Given the description of an element on the screen output the (x, y) to click on. 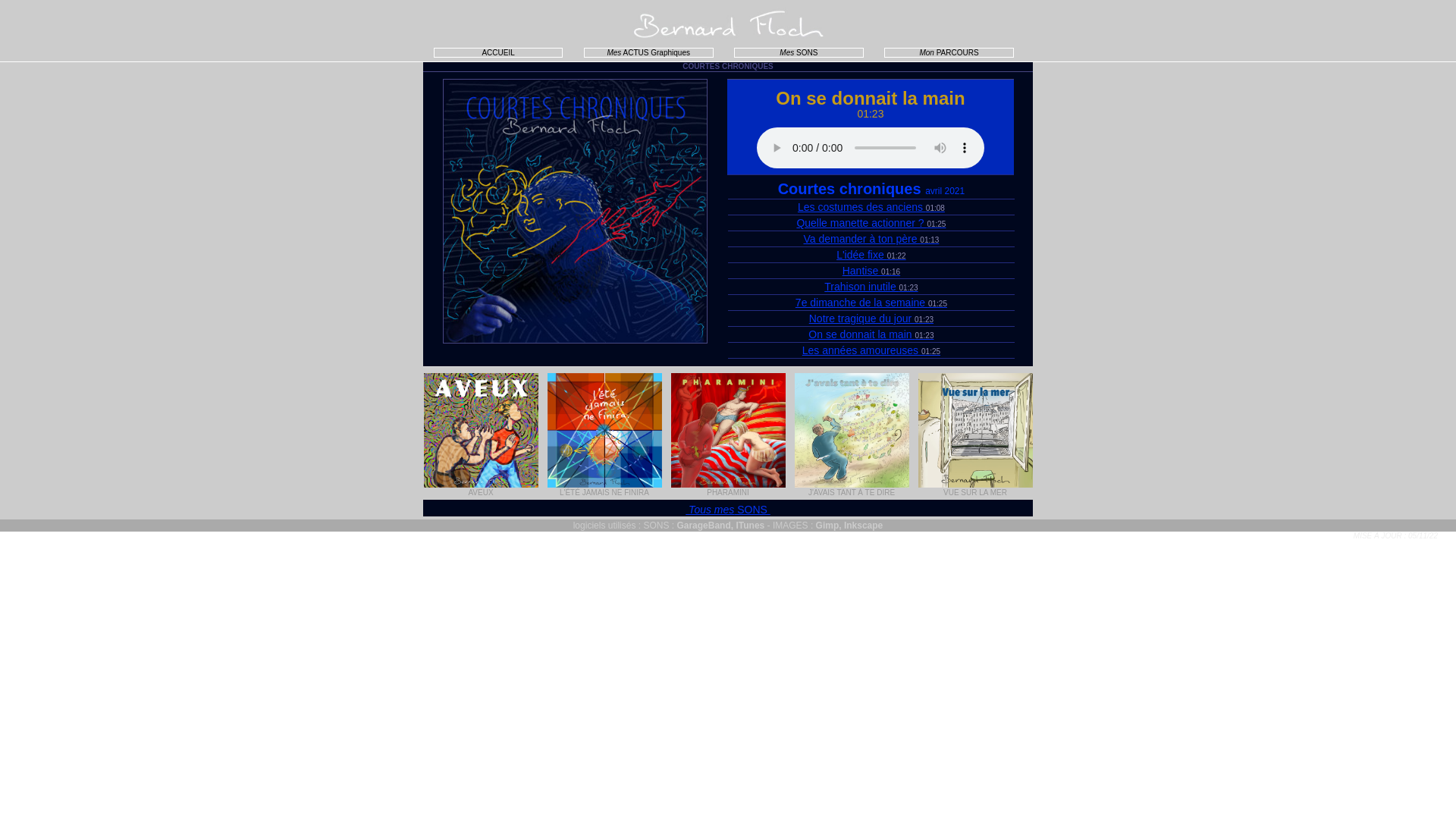
Quelle manette actionner ? 01:25 Element type: text (870, 222)
7e dimanche de la semaine 01:25 Element type: text (871, 302)
Trahison inutile 01:23 Element type: text (870, 286)
 Tous mes SONS  Element type: text (727, 509)
Les costumes des anciens 01:08 Element type: text (870, 206)
On se donnait la main 01:23 Element type: text (870, 334)
Notre tragique du jour 01:23 Element type: text (871, 318)
Hantise 01:16 Element type: text (871, 270)
